Given the description of an element on the screen output the (x, y) to click on. 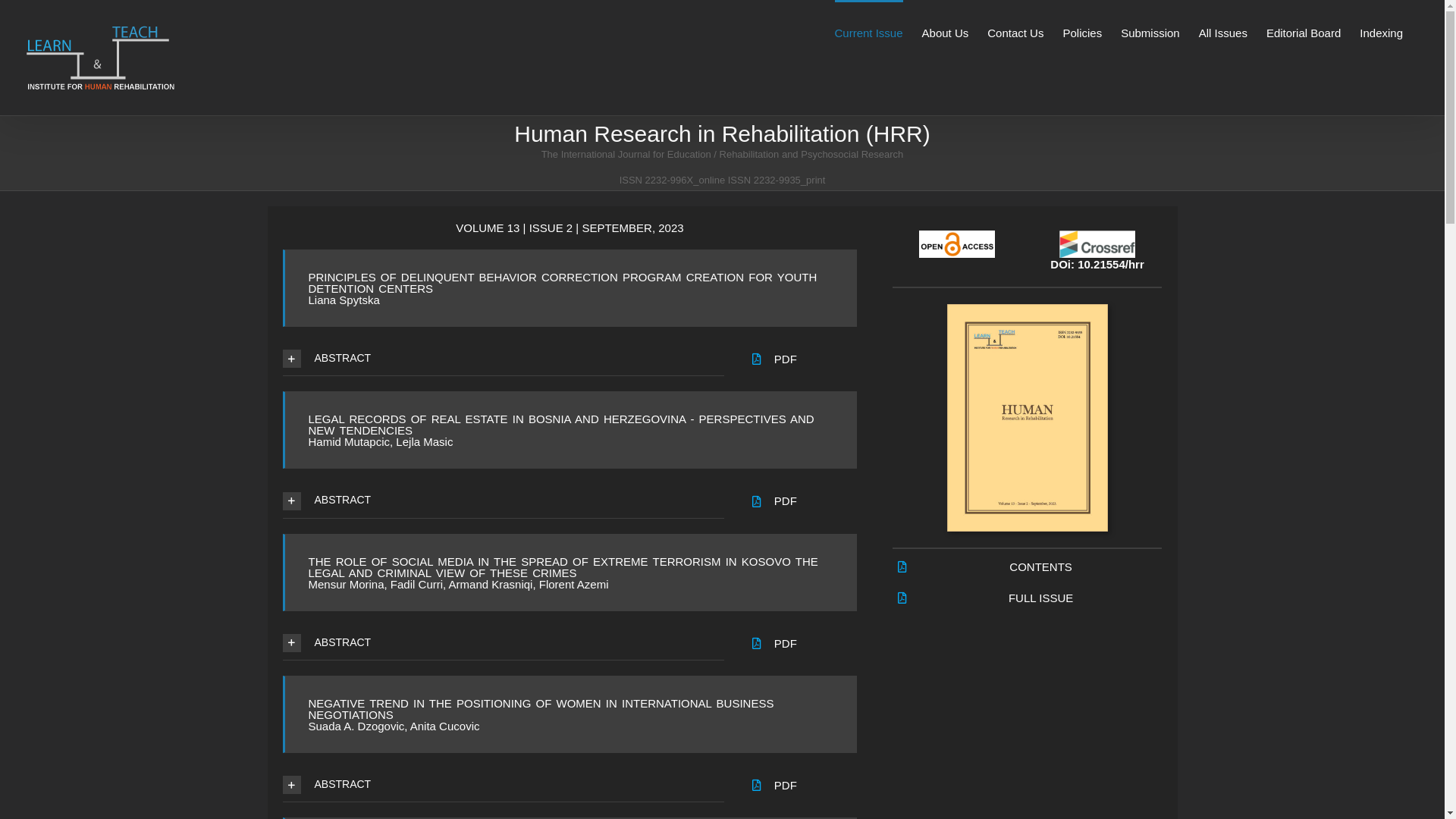
ABSTRACT Element type: text (502, 642)
PDF Element type: text (785, 643)
Editorial Board Element type: text (1303, 31)
ABSTRACT Element type: text (502, 358)
Policies Element type: text (1081, 31)
PDF Element type: text (785, 784)
All Issues Element type: text (1222, 31)
open_access_icon Element type: hover (956, 243)
PDF Element type: text (785, 500)
CONTENTS Element type: text (1040, 566)
Crossref Element type: hover (1097, 243)
Submission Element type: text (1149, 31)
Indexing Element type: text (1380, 31)
About Us Element type: text (945, 31)
Contact Us Element type: text (1015, 31)
FULL ISSUE Element type: text (1040, 597)
ABSTRACT Element type: text (502, 500)
PDF Element type: text (785, 358)
Current Issue Element type: text (868, 31)
ABSTRACT Element type: text (502, 784)
